Given the description of an element on the screen output the (x, y) to click on. 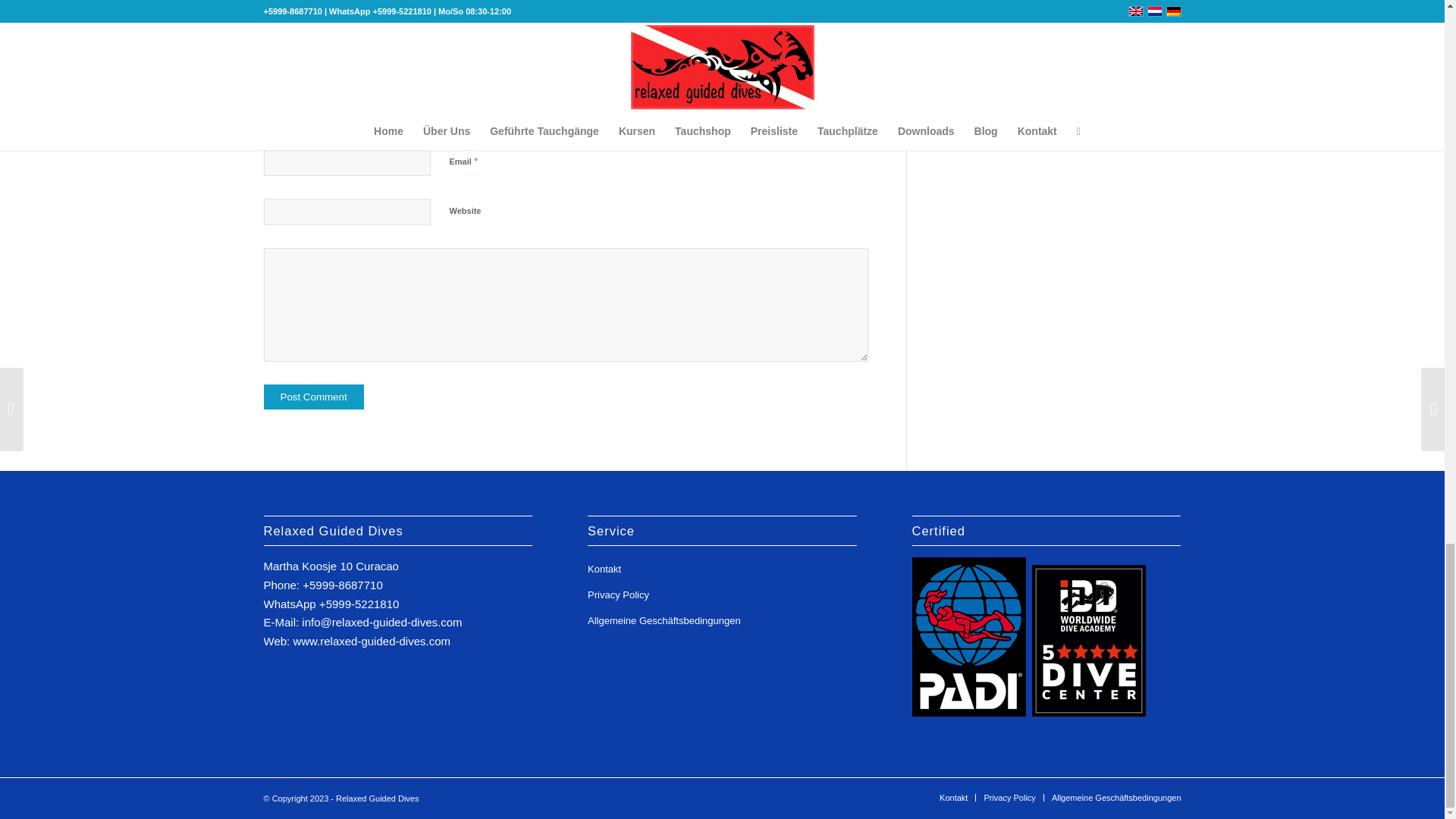
Post Comment (313, 396)
